Given the description of an element on the screen output the (x, y) to click on. 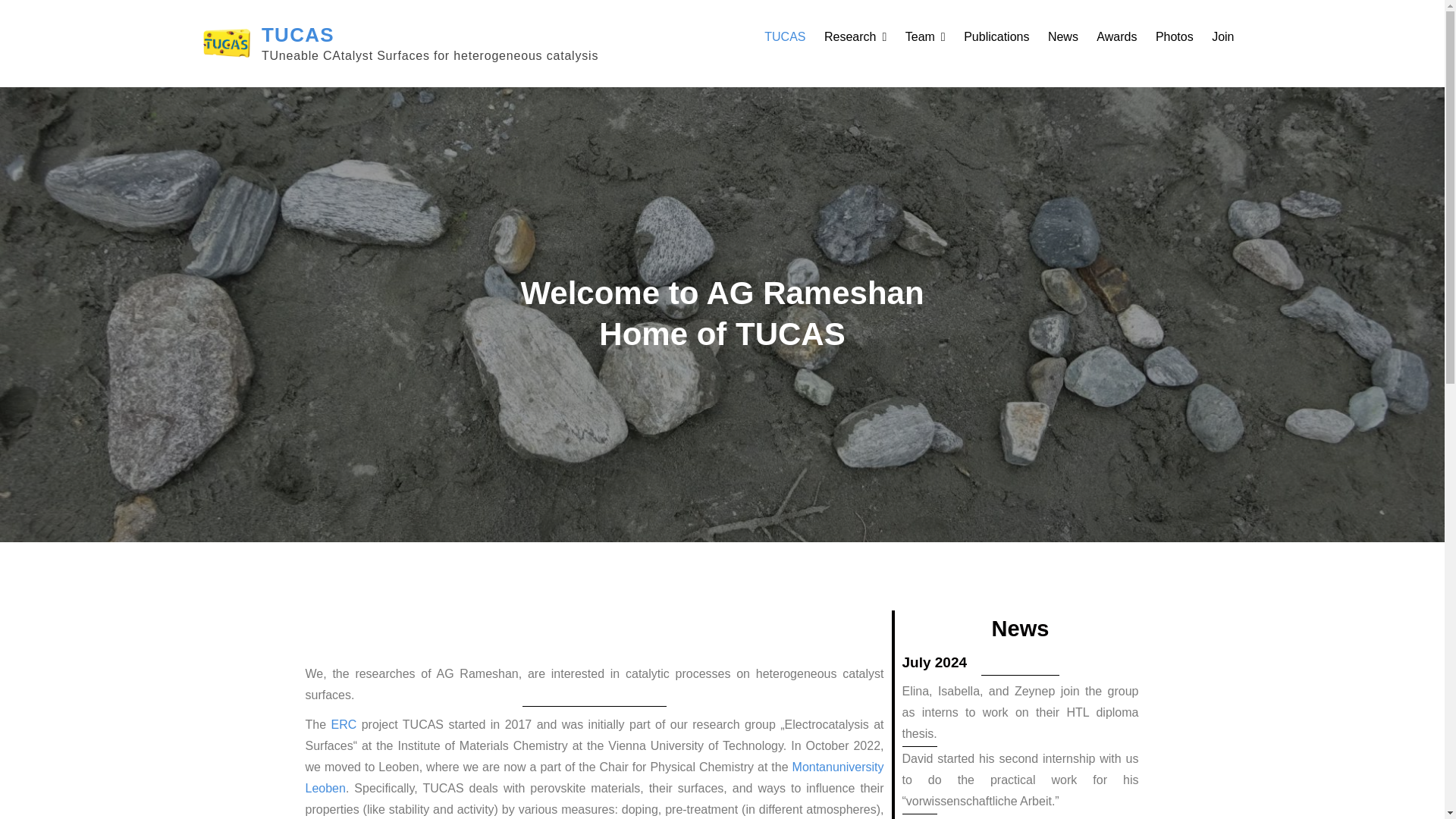
Photos (1174, 36)
News (1063, 36)
Montanuniversity Leoben (593, 777)
News (1020, 628)
TUCAS (298, 34)
TUCAS (784, 36)
Publications (996, 36)
ERC (343, 724)
Research (854, 36)
Team (925, 36)
Awards (1116, 36)
